Given the description of an element on the screen output the (x, y) to click on. 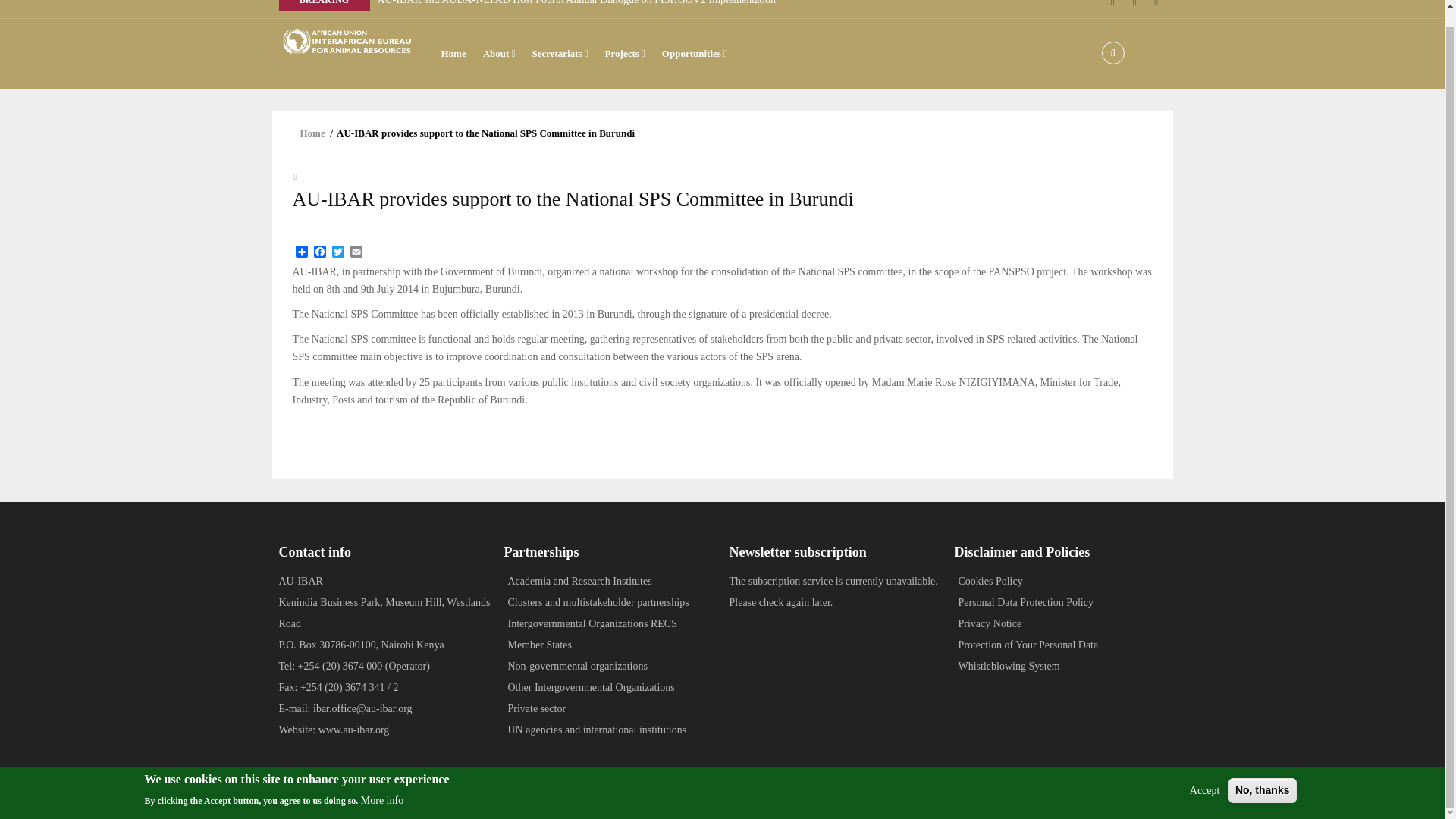
Secretariats (558, 53)
Home (346, 41)
Projects (624, 53)
Home (731, 792)
